Given the description of an element on the screen output the (x, y) to click on. 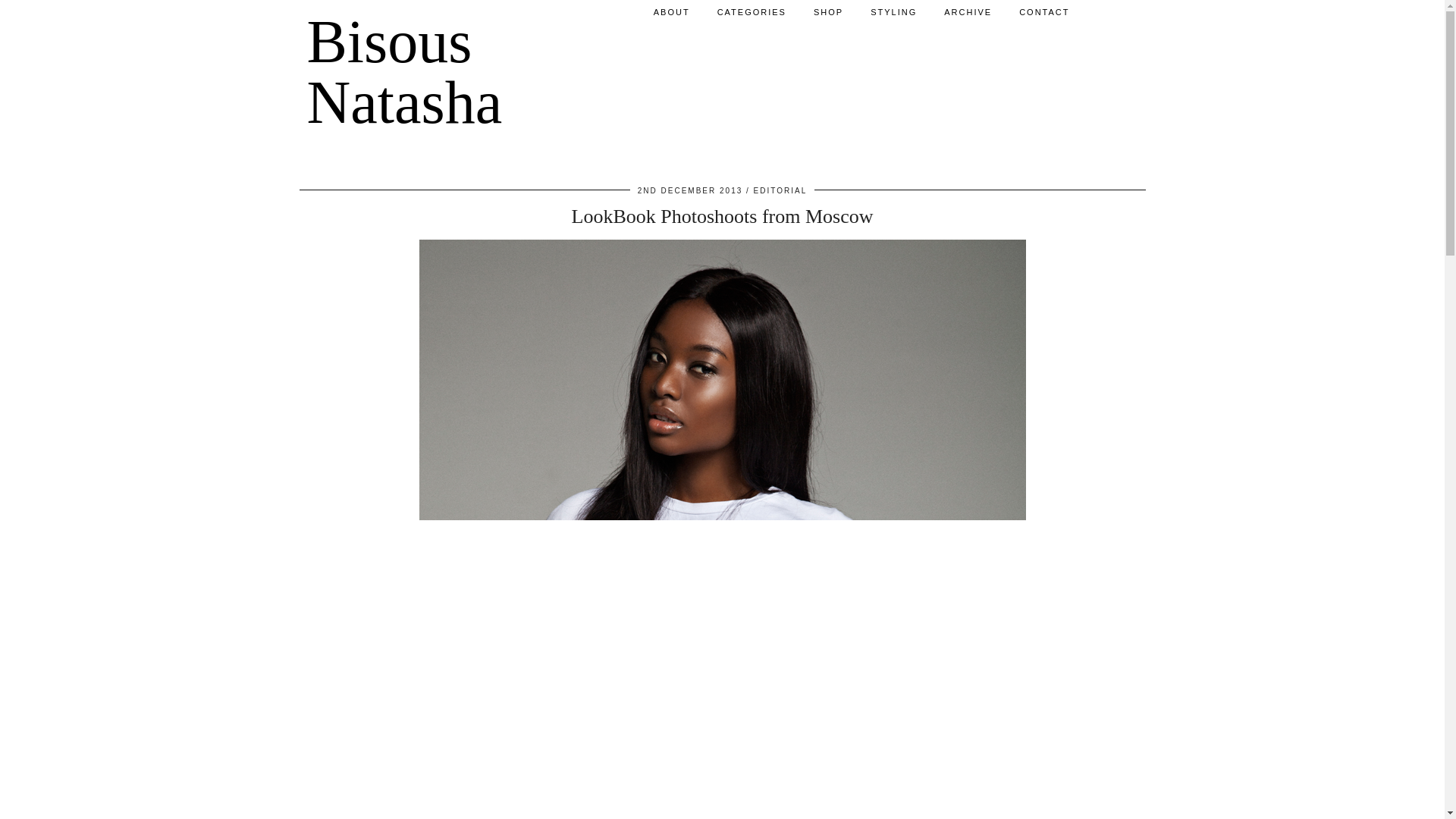
Bisous Natasha (403, 71)
CATEGORIES (751, 12)
ARCHIVE (968, 12)
EDITORIAL (781, 190)
CONTACT (1044, 12)
STYLING (893, 12)
ABOUT (671, 12)
SHOP (828, 12)
Bisous Natasha (403, 71)
